Given the description of an element on the screen output the (x, y) to click on. 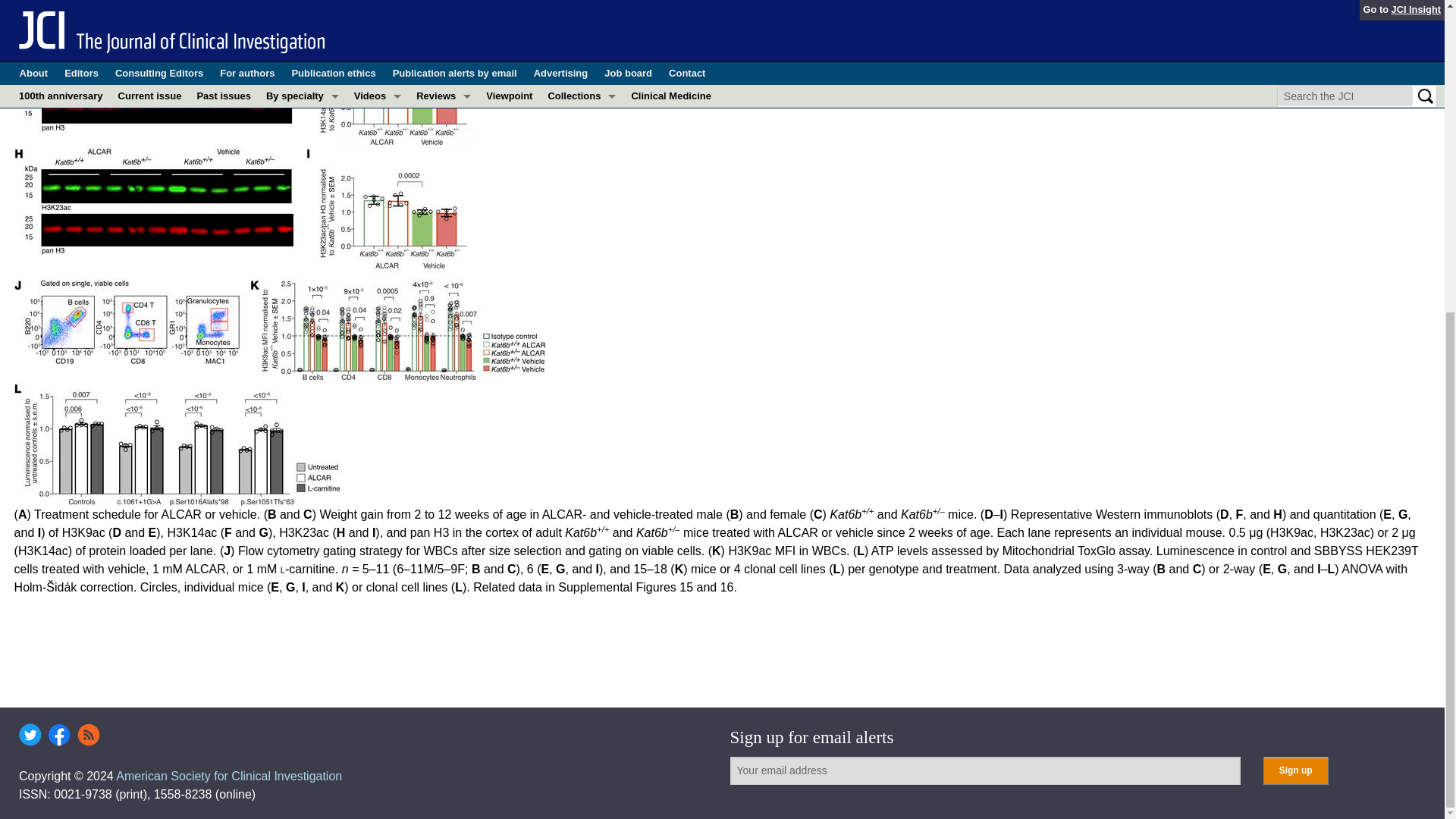
RSS (88, 734)
Sign up (1295, 770)
Facebook (58, 734)
Twitter (30, 734)
